Given the description of an element on the screen output the (x, y) to click on. 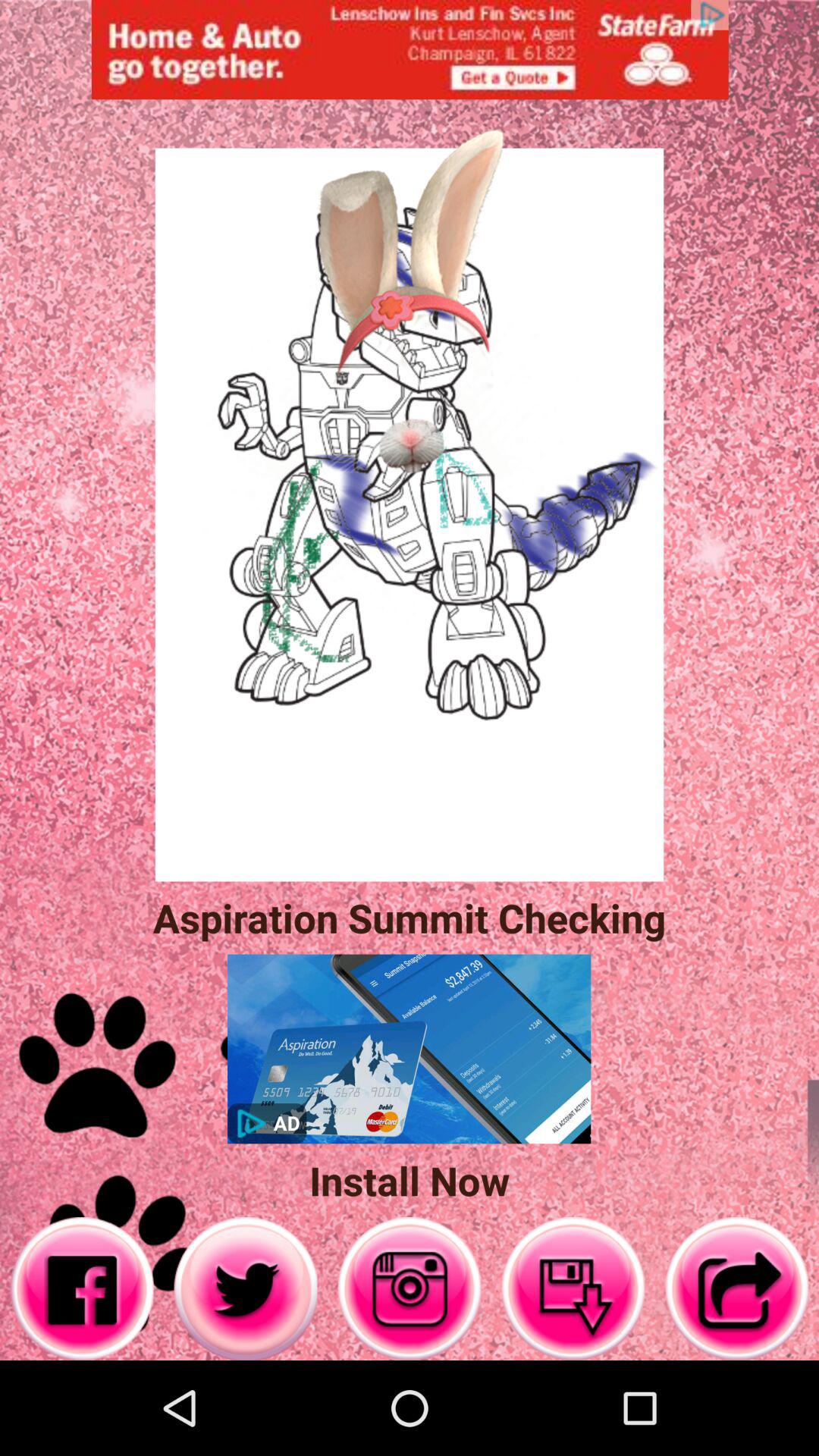
play on the music (409, 1288)
